Given the description of an element on the screen output the (x, y) to click on. 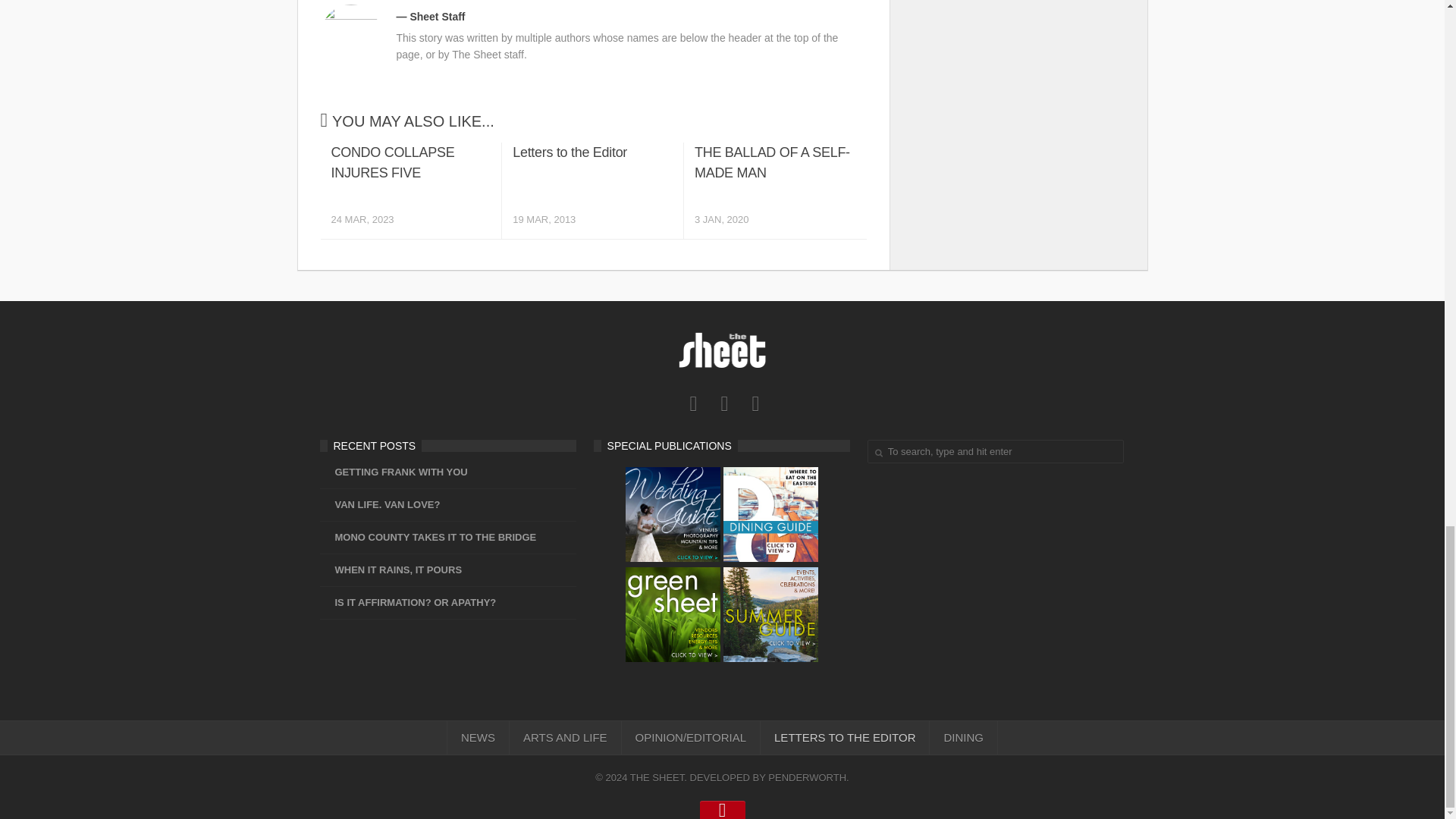
WHEN IT RAINS, IT POURS (410, 190)
RSS feed (592, 190)
The Sheet on Facebook (391, 569)
IS IT AFFIRMATION? OR APATHY? (755, 403)
To search, type and hit enter (692, 403)
Follow The Sheet on Twitter (408, 602)
MONO COUNTY TAKES IT TO THE BRIDGE (995, 451)
VAN LIFE. VAN LOVE? (724, 403)
